Given the description of an element on the screen output the (x, y) to click on. 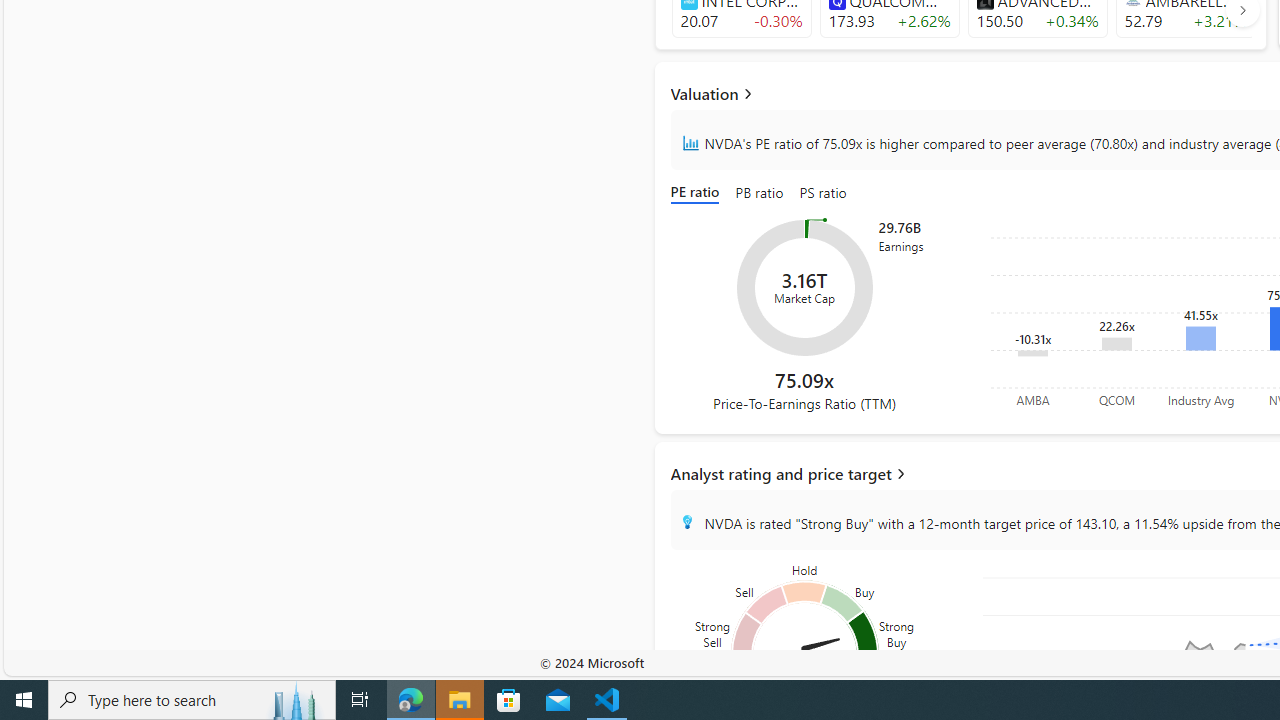
Class: recharts-surface (804, 287)
PS ratio (823, 193)
PB ratio (759, 193)
PE ratio (698, 193)
AutomationID: finance_carousel_navi_arrow (1242, 10)
